Given the description of an element on the screen output the (x, y) to click on. 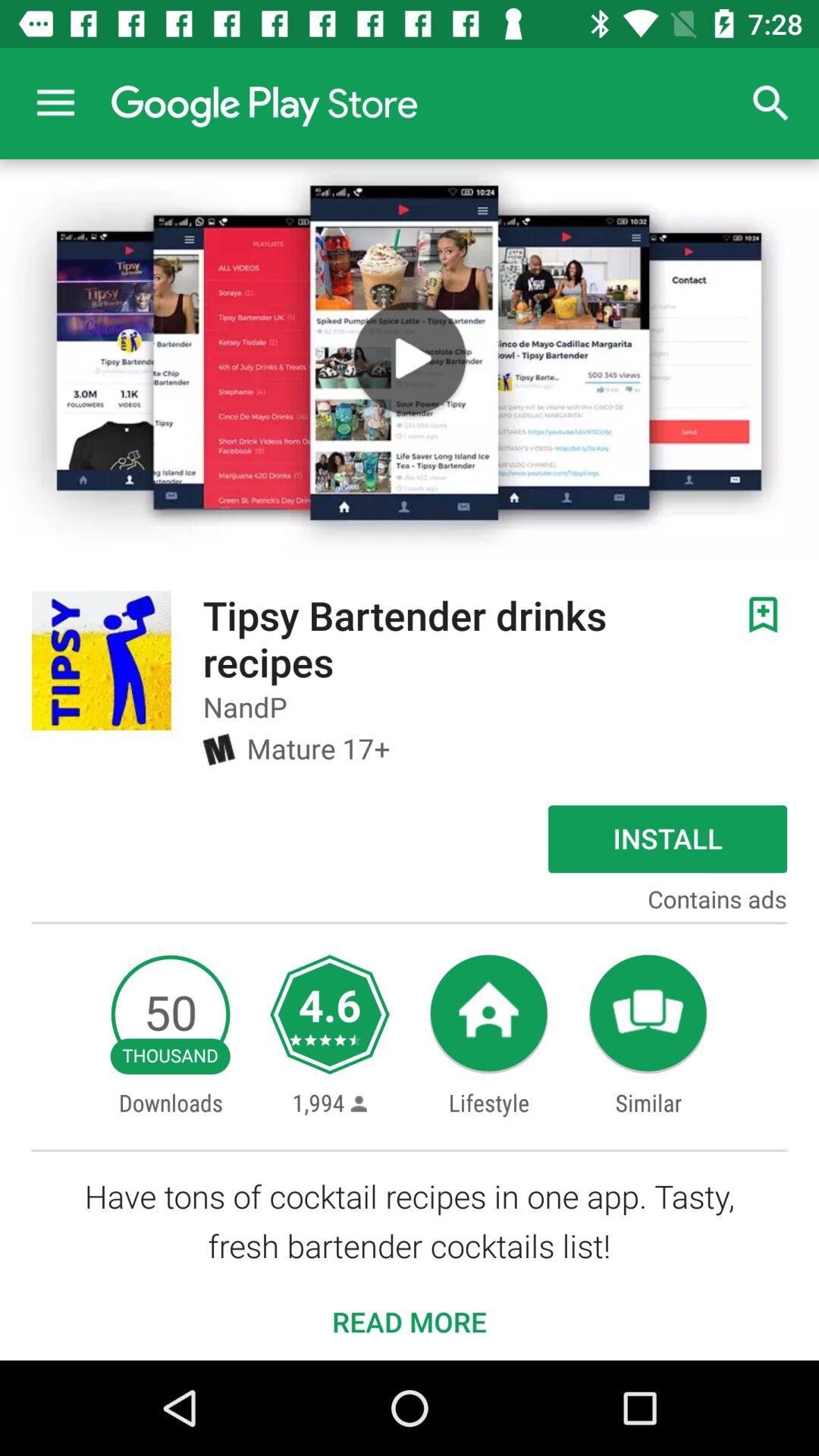
select the image above lifestyle (488, 1014)
go to title right side of menu icon (264, 103)
click on symbol beside to tipsy bartender drinks recipes (763, 615)
